Given the description of an element on the screen output the (x, y) to click on. 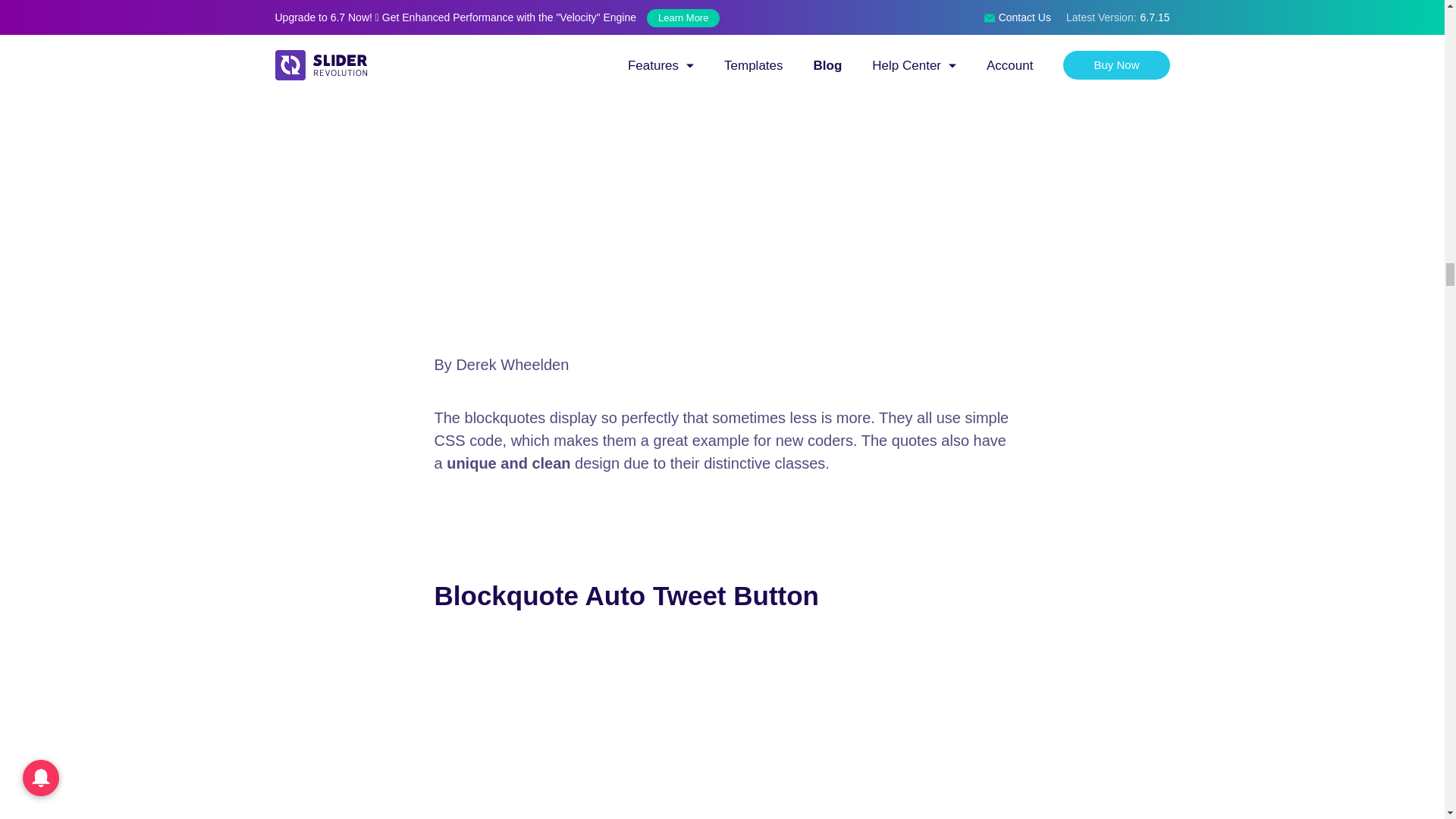
CodePen Embed DvqReW (721, 726)
